Given the description of an element on the screen output the (x, y) to click on. 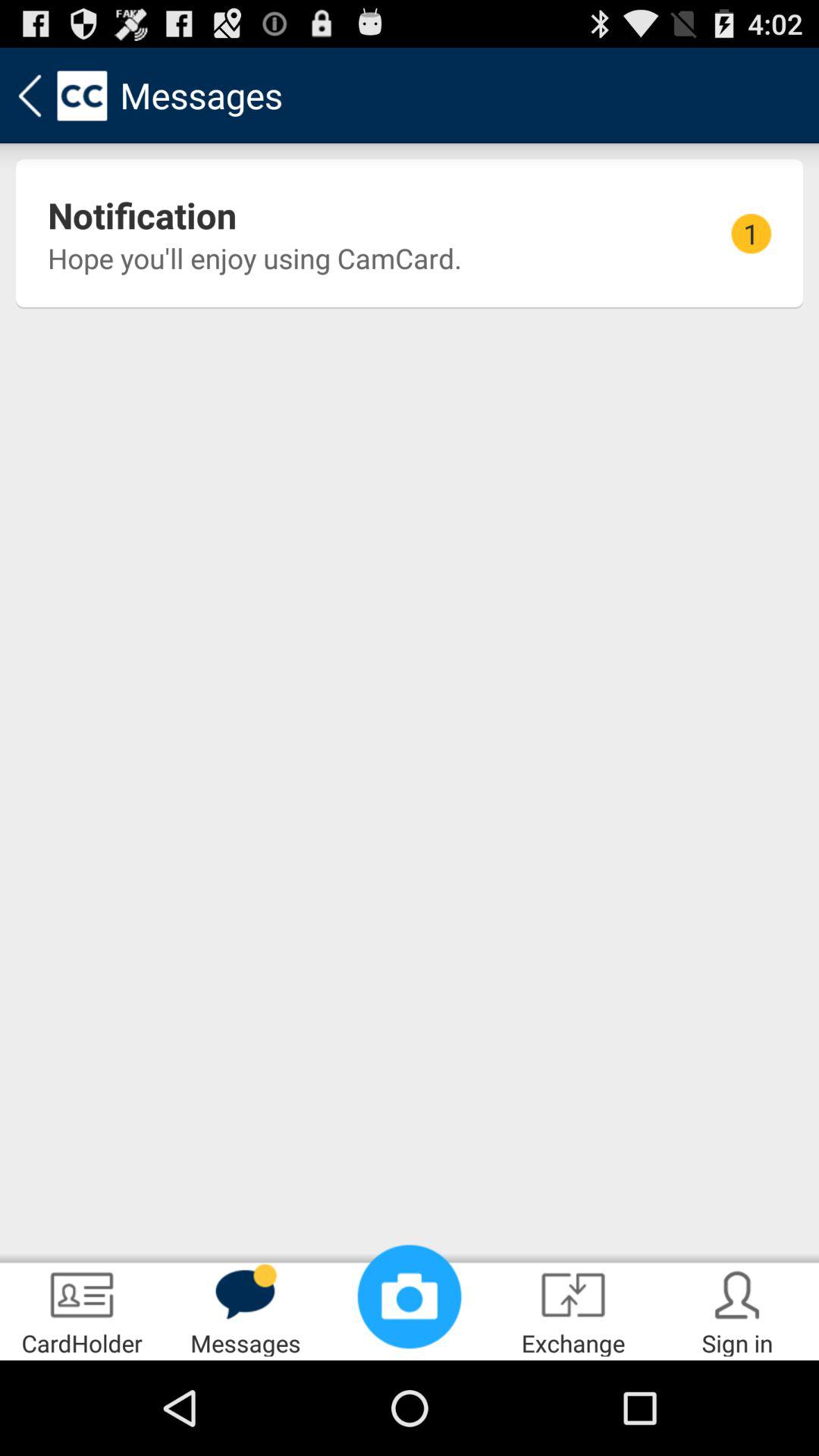
click the item above sign in icon (751, 233)
